Given the description of an element on the screen output the (x, y) to click on. 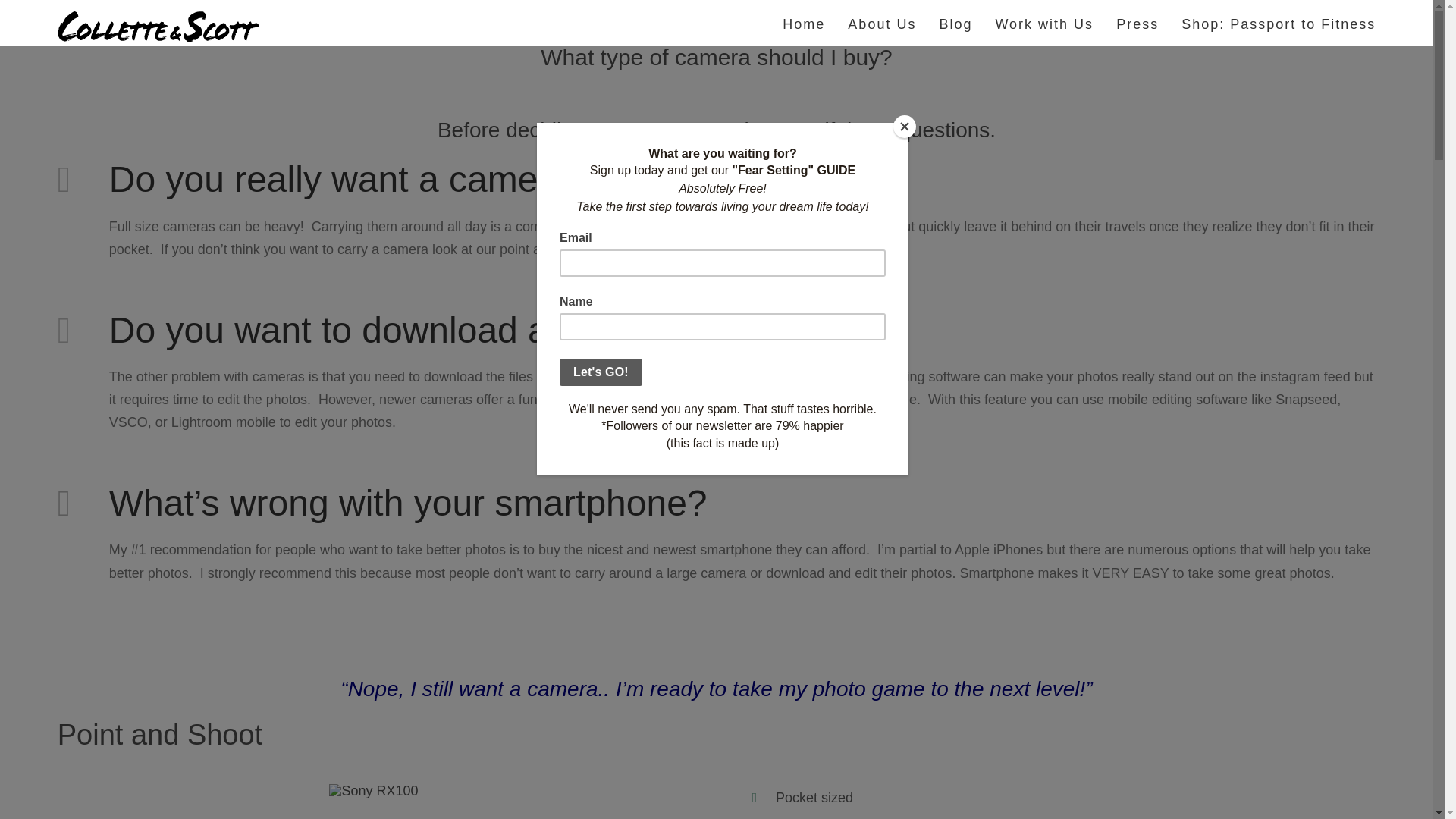
Work with Us (1043, 22)
About Us (881, 22)
Home (804, 22)
Press (1137, 22)
Shop: Passport to Fitness (1277, 22)
